Given the description of an element on the screen output the (x, y) to click on. 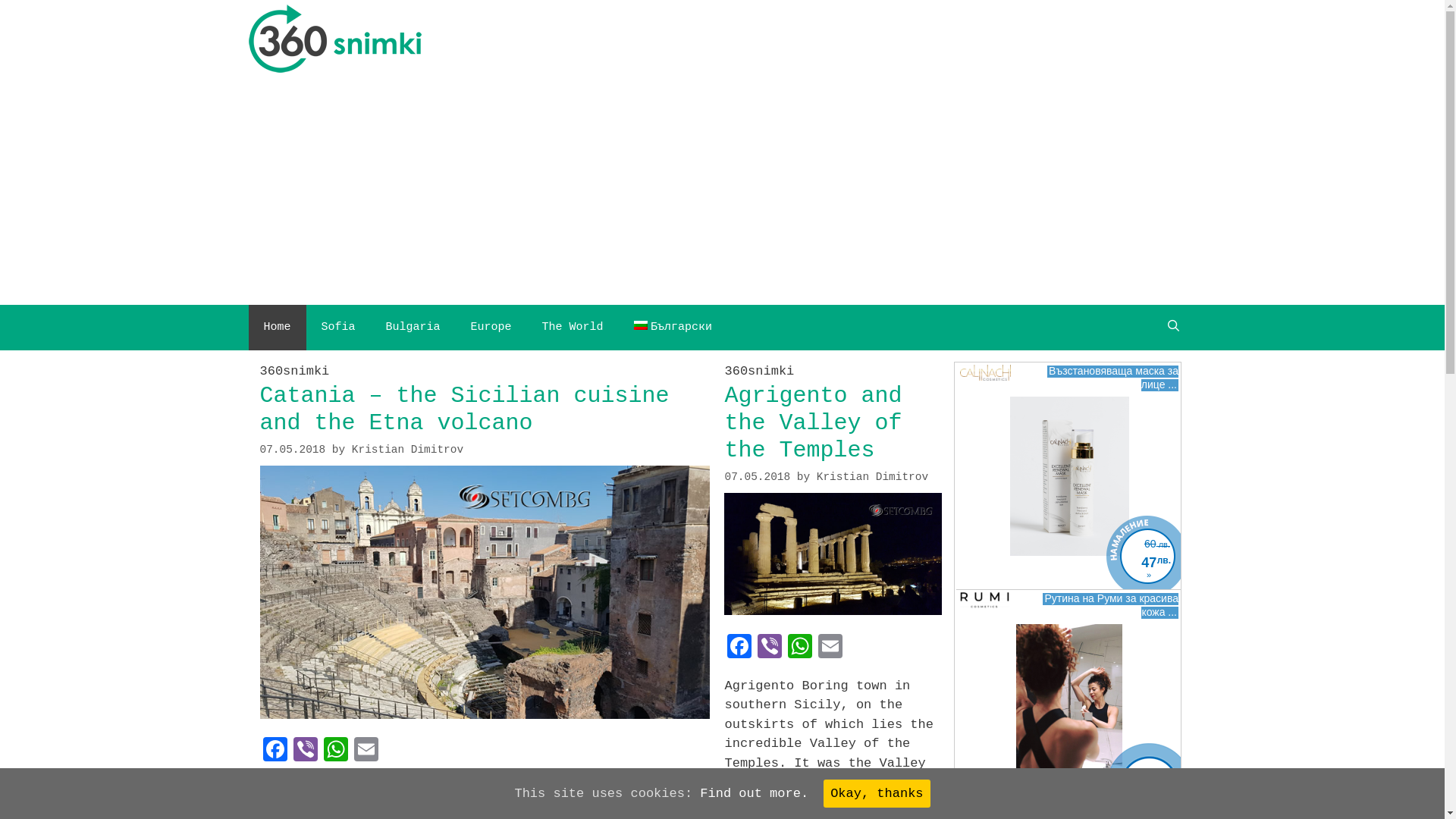
Europe Element type: text (491, 327)
Search Element type: text (39, 18)
The World Element type: text (572, 327)
Kristian Dimitrov Element type: text (872, 476)
Email Element type: text (365, 752)
07.05.2018 Element type: text (292, 449)
WhatsApp Element type: text (799, 648)
07.05.2018 Element type: text (757, 476)
Viber Element type: text (769, 648)
Find out more. Element type: text (753, 792)
Agrigento and the Valley of the Temples Element type: text (812, 422)
Skip to content Element type: text (0, 0)
Facebook Element type: text (274, 752)
Bulgaria Element type: text (412, 327)
360snimki.com Element type: hover (334, 40)
Kristian Dimitrov Element type: text (407, 449)
Home Element type: text (277, 327)
Viber Element type: text (304, 752)
Advertisement Element type: hover (721, 190)
Email Element type: text (830, 648)
Sofia Element type: text (338, 327)
Okay, thanks Element type: text (876, 793)
360snimki.com Element type: hover (334, 40)
Search Element type: text (1173, 327)
WhatsApp Element type: text (335, 752)
Facebook Element type: text (739, 648)
